Given the description of an element on the screen output the (x, y) to click on. 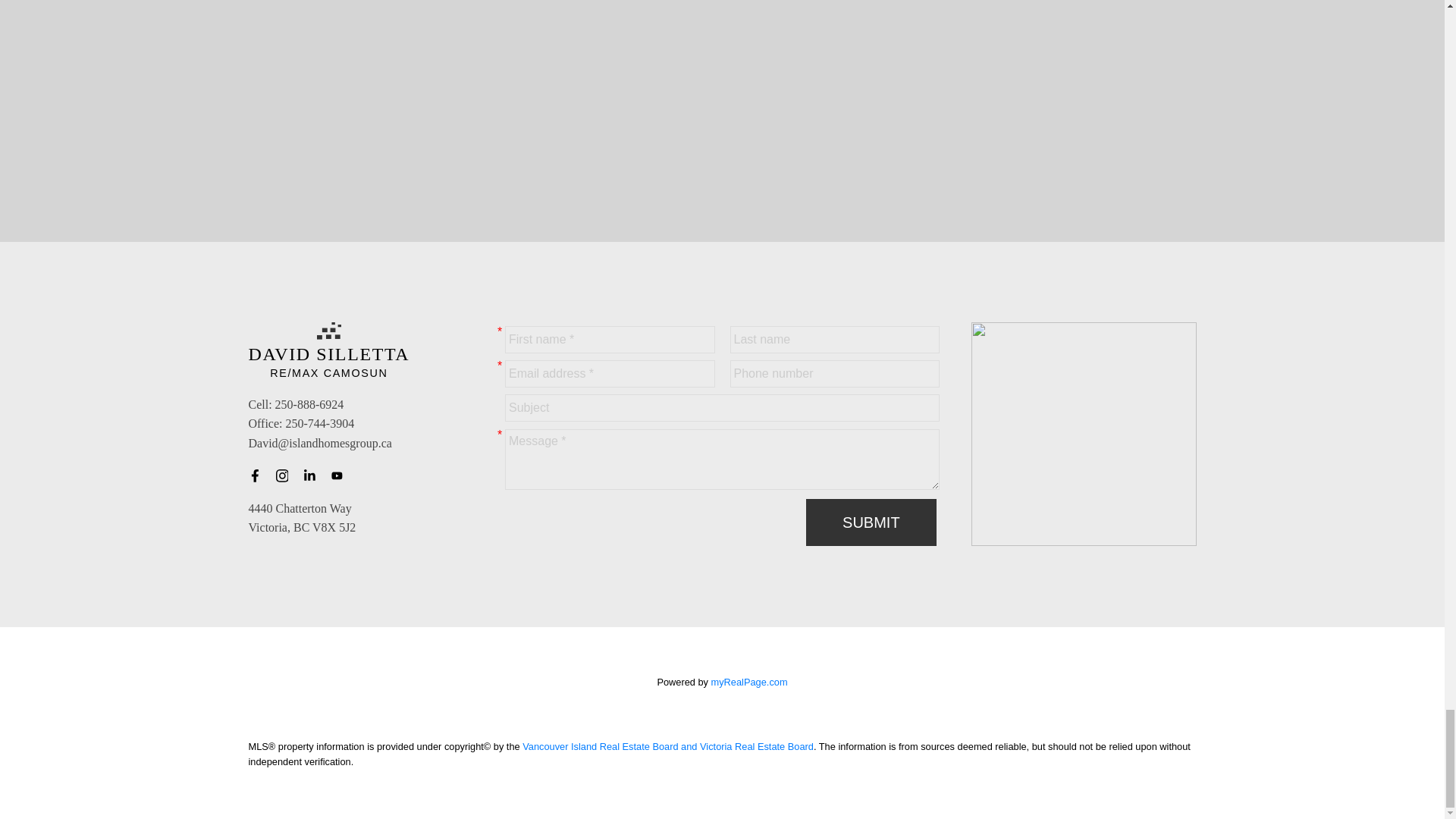
instagram (286, 476)
Youtube (341, 476)
Facebook (258, 476)
linkedin (313, 476)
